Given the description of an element on the screen output the (x, y) to click on. 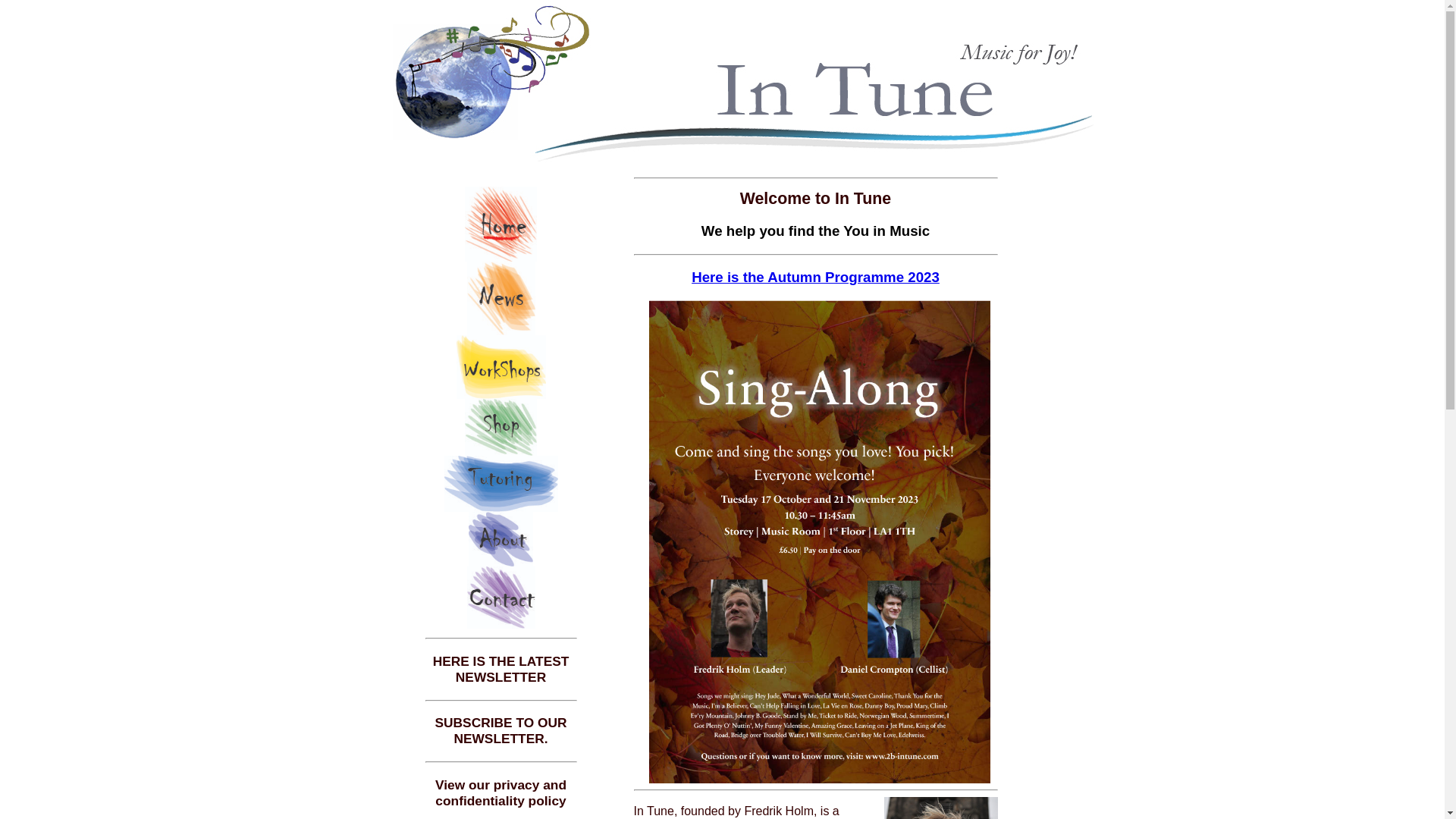
View our privacy and confidentiality policy Element type: text (500, 792)
Here is the Autumn Programme 2023 Element type: text (815, 277)
SUBSCRIBE TO OUR NEWSLETTER. Element type: text (501, 730)
HERE IS THE LATEST NEWSLETTER Element type: text (501, 668)
